Given the description of an element on the screen output the (x, y) to click on. 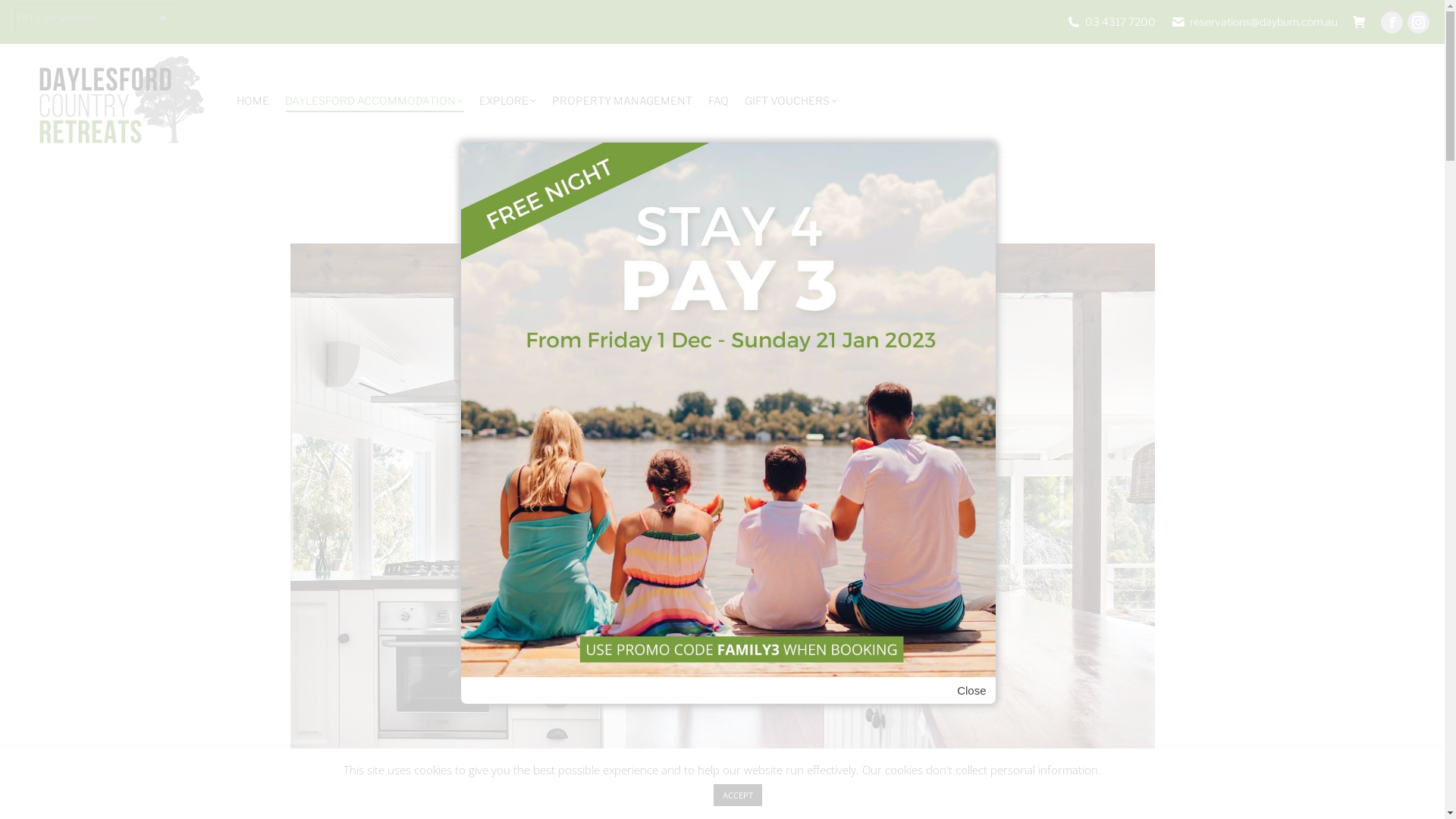
EXPLORE Element type: text (507, 100)
Close Element type: text (971, 690)
DAYLESFORD ACCOMMODATION Element type: text (373, 100)
HOME Element type: text (252, 100)
PROPERTY MANAGEMENT Element type: text (621, 100)
reservations@dayburn.com.au Element type: text (1253, 21)
03 4317 7200 Element type: text (1110, 21)
ACCEPT Element type: text (736, 795)
Instagram page opens in new window Element type: text (1418, 21)
Facebook page opens in new window Element type: text (1391, 21)
GIFT VOUCHERS Element type: text (790, 100)
FAQ Element type: text (718, 100)
  Element type: text (1358, 21)
